Given the description of an element on the screen output the (x, y) to click on. 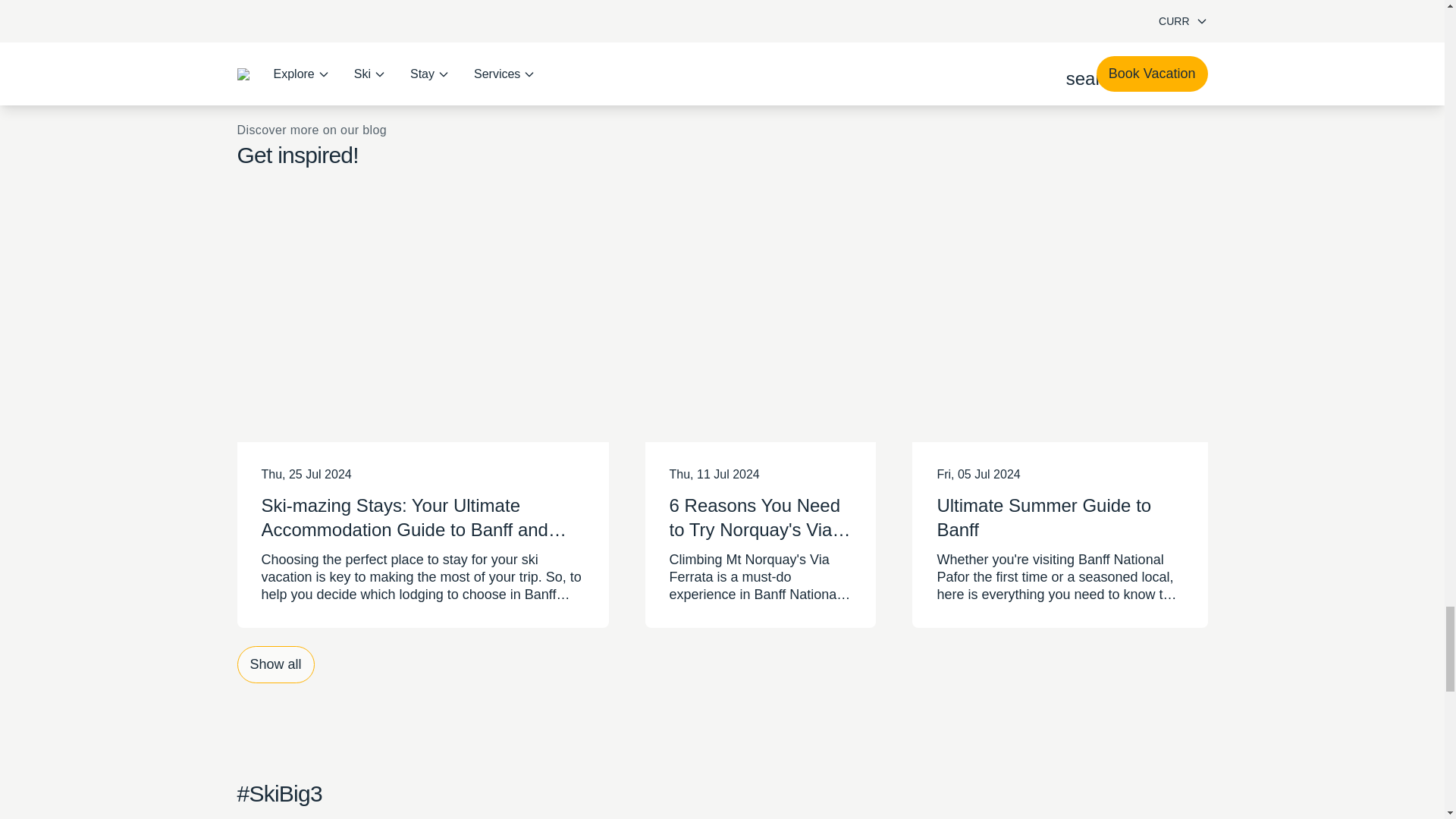
Vacation Packages (722, 10)
Show all (274, 684)
Vacation Packages (722, 10)
